Given the description of an element on the screen output the (x, y) to click on. 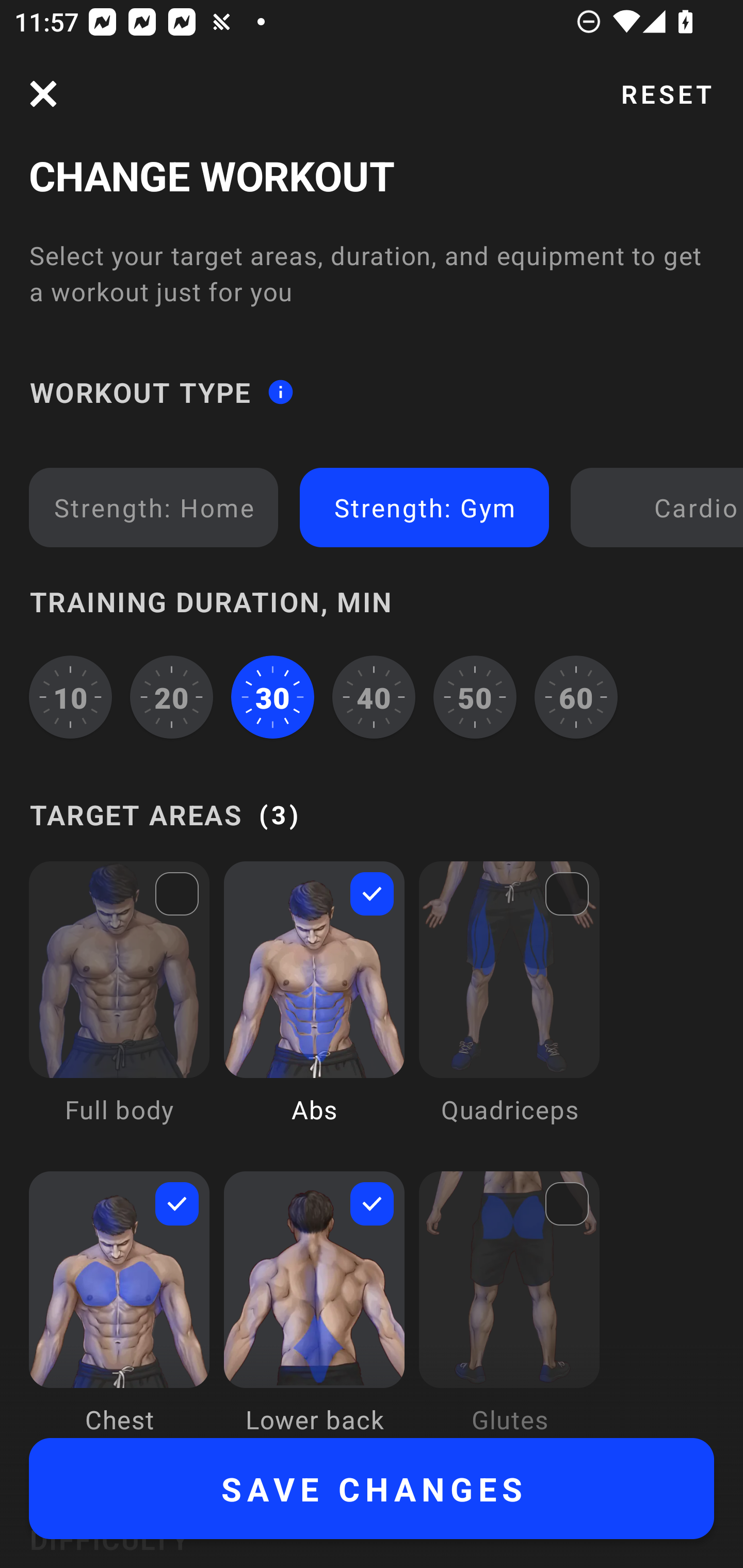
Navigation icon (43, 93)
RESET (666, 93)
Workout type information button (280, 391)
Strength: Home (153, 507)
Cardio (660, 507)
10 (70, 696)
20 (171, 696)
30 (272, 696)
40 (373, 696)
50 (474, 696)
60 (575, 696)
Full body (118, 1007)
Quadriceps (509, 1007)
Glutes (509, 1304)
SAVE CHANGES (371, 1488)
